Given the description of an element on the screen output the (x, y) to click on. 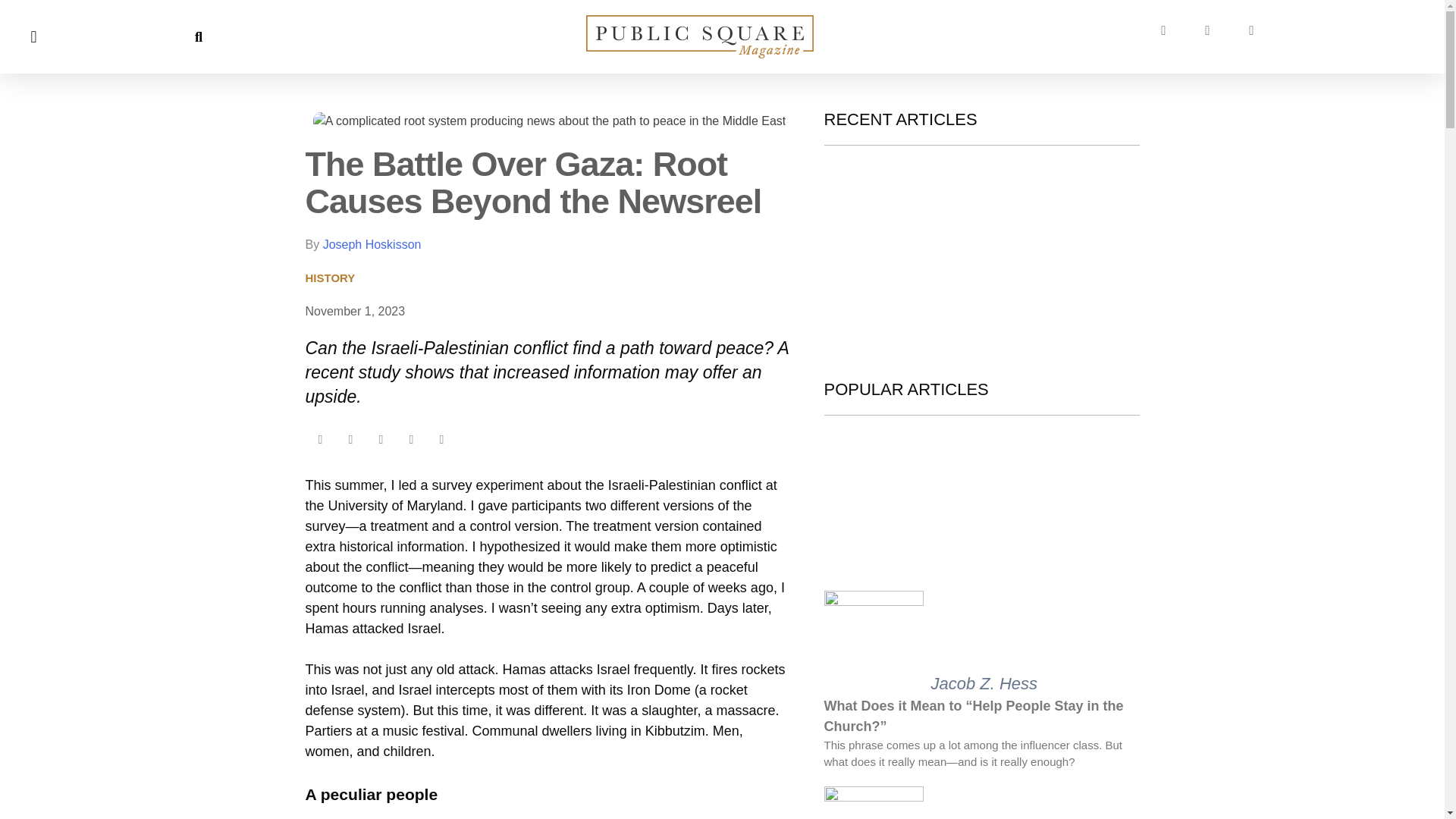
HISTORY (329, 278)
Joseph Hoskisson (372, 244)
November 1, 2023 (354, 311)
